Given the description of an element on the screen output the (x, y) to click on. 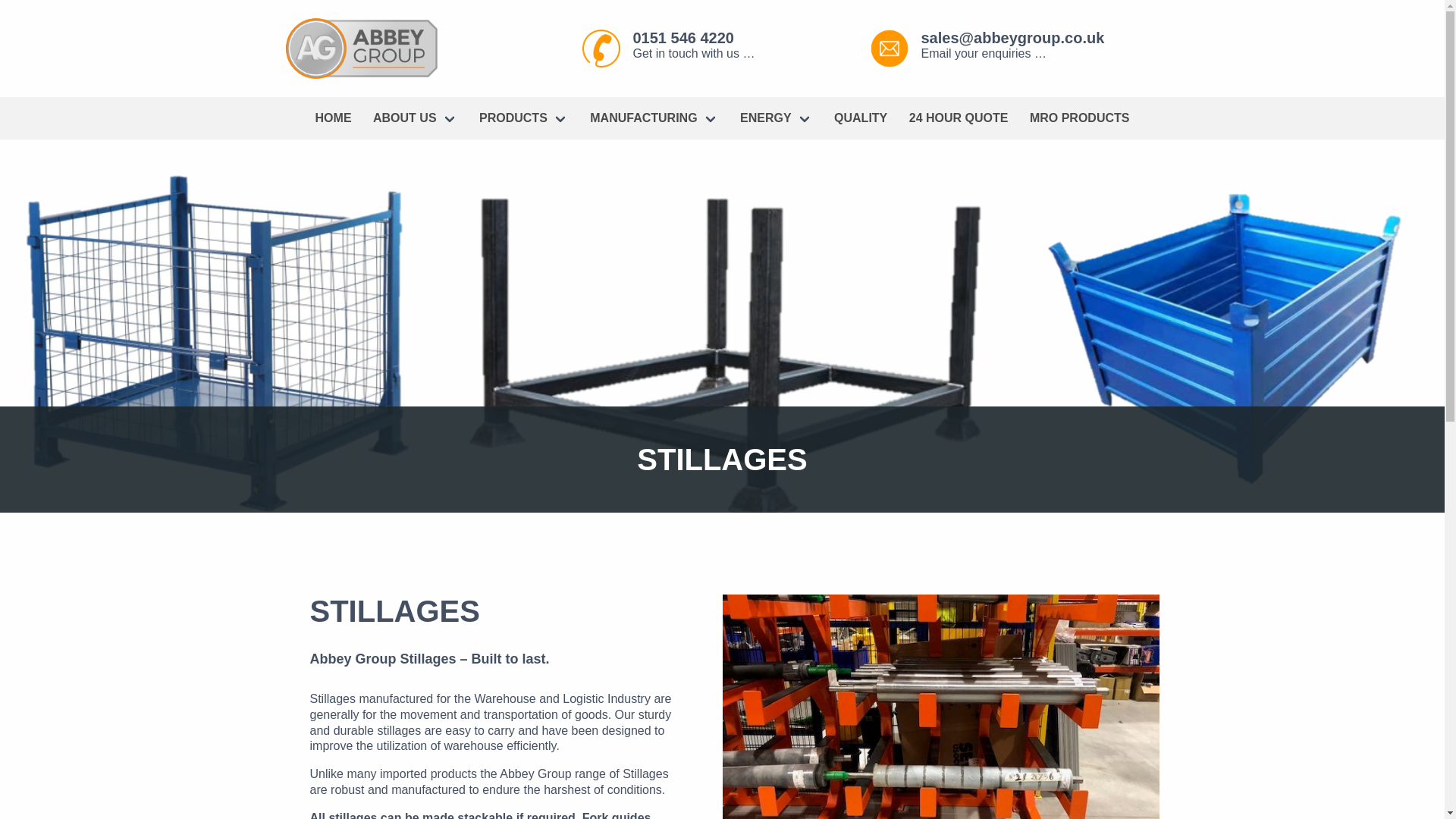
HOME (333, 118)
ABOUT US (415, 118)
